Given the description of an element on the screen output the (x, y) to click on. 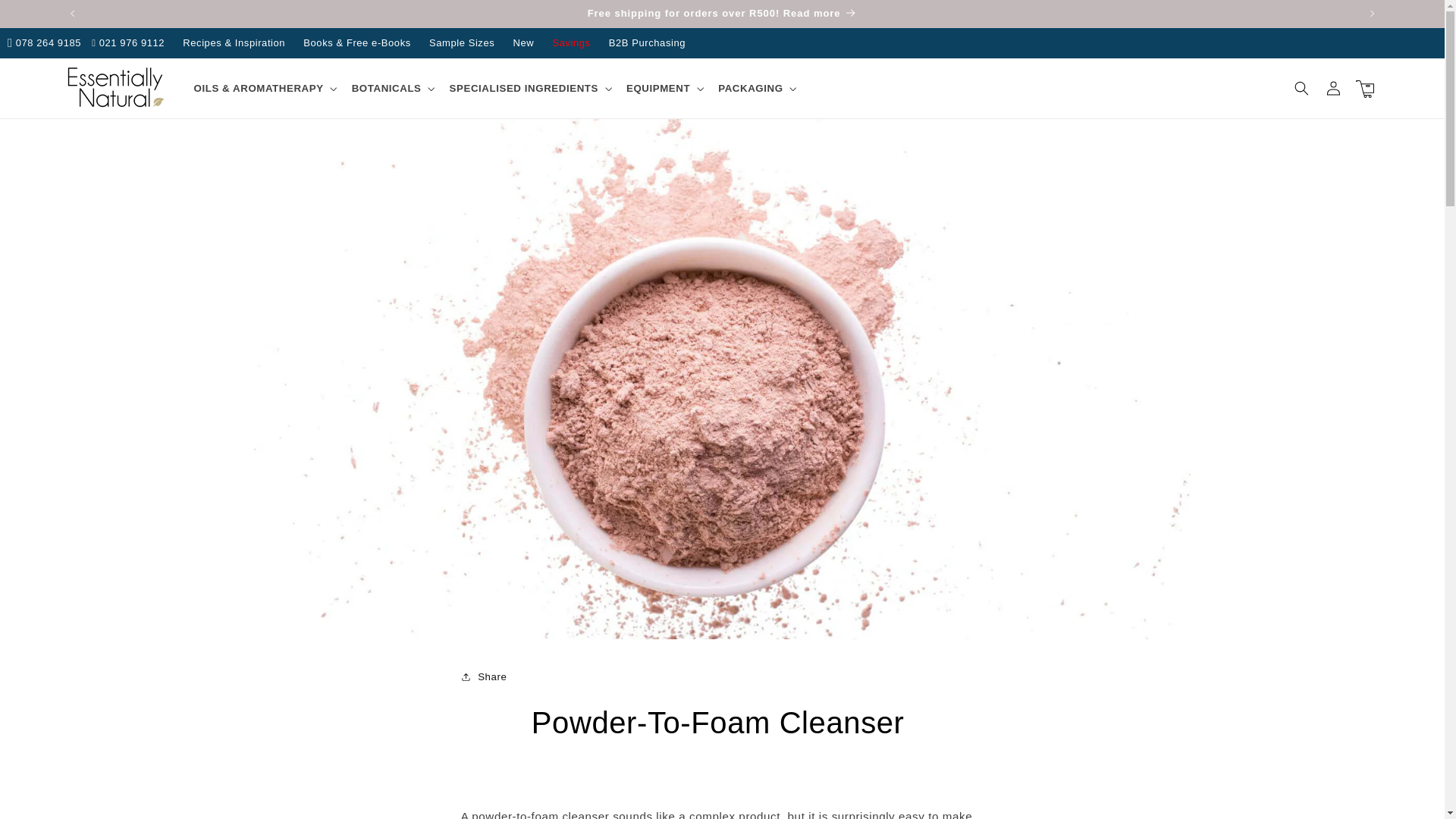
Skip to content (43, 16)
New (523, 42)
Sample Sizes (462, 42)
021 976 9112 (127, 42)
078 264 9185 (44, 42)
Free shipping for orders over R500! Read more (721, 13)
Savings (570, 42)
Sign in or create account (1333, 88)
B2B Purchasing (647, 42)
